Given the description of an element on the screen output the (x, y) to click on. 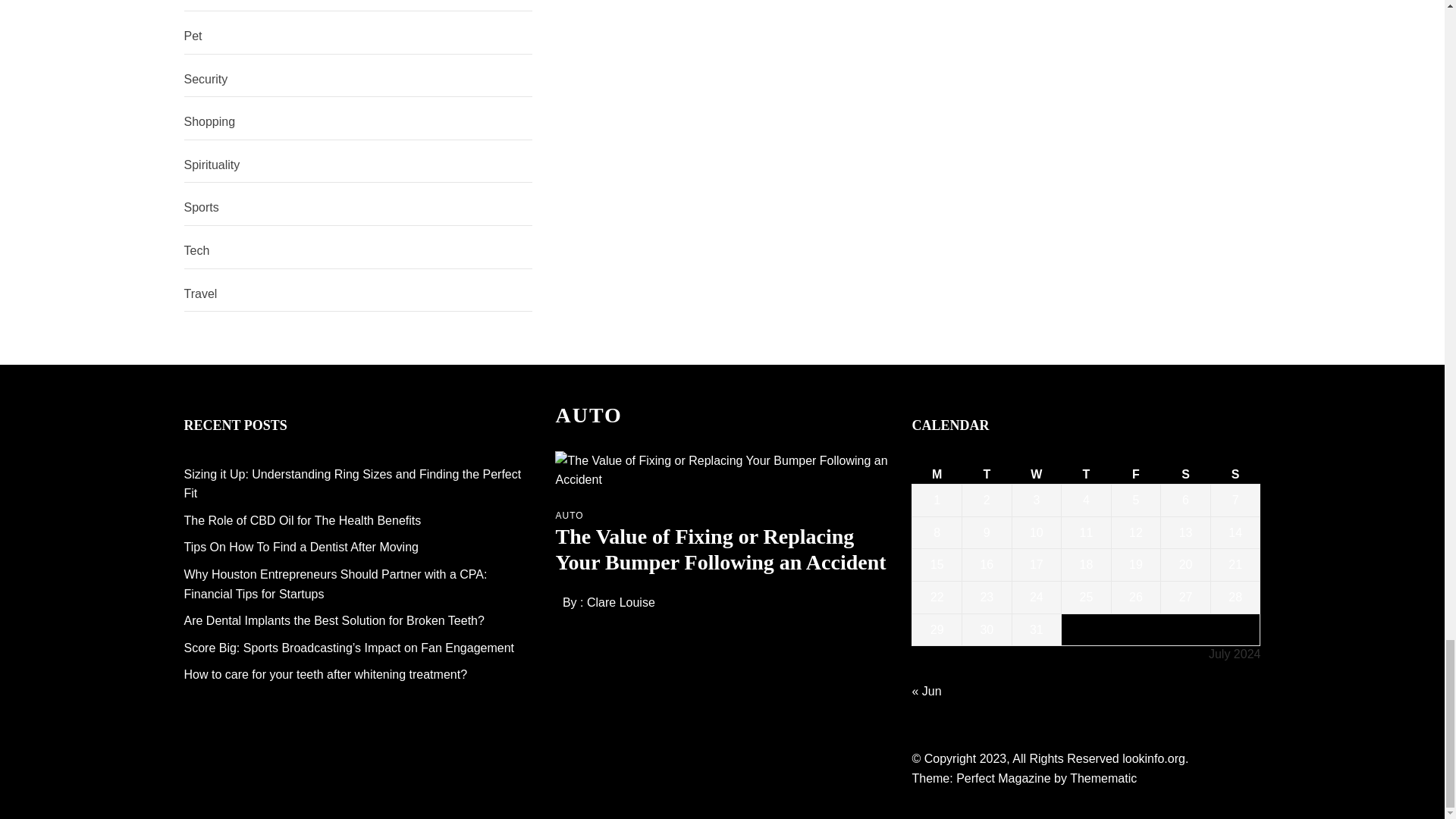
Tuesday (986, 474)
Monday (937, 474)
Thursday (1086, 474)
Wednesday (1036, 474)
Friday (1135, 474)
Saturday (1185, 474)
Sunday (1234, 474)
